Given the description of an element on the screen output the (x, y) to click on. 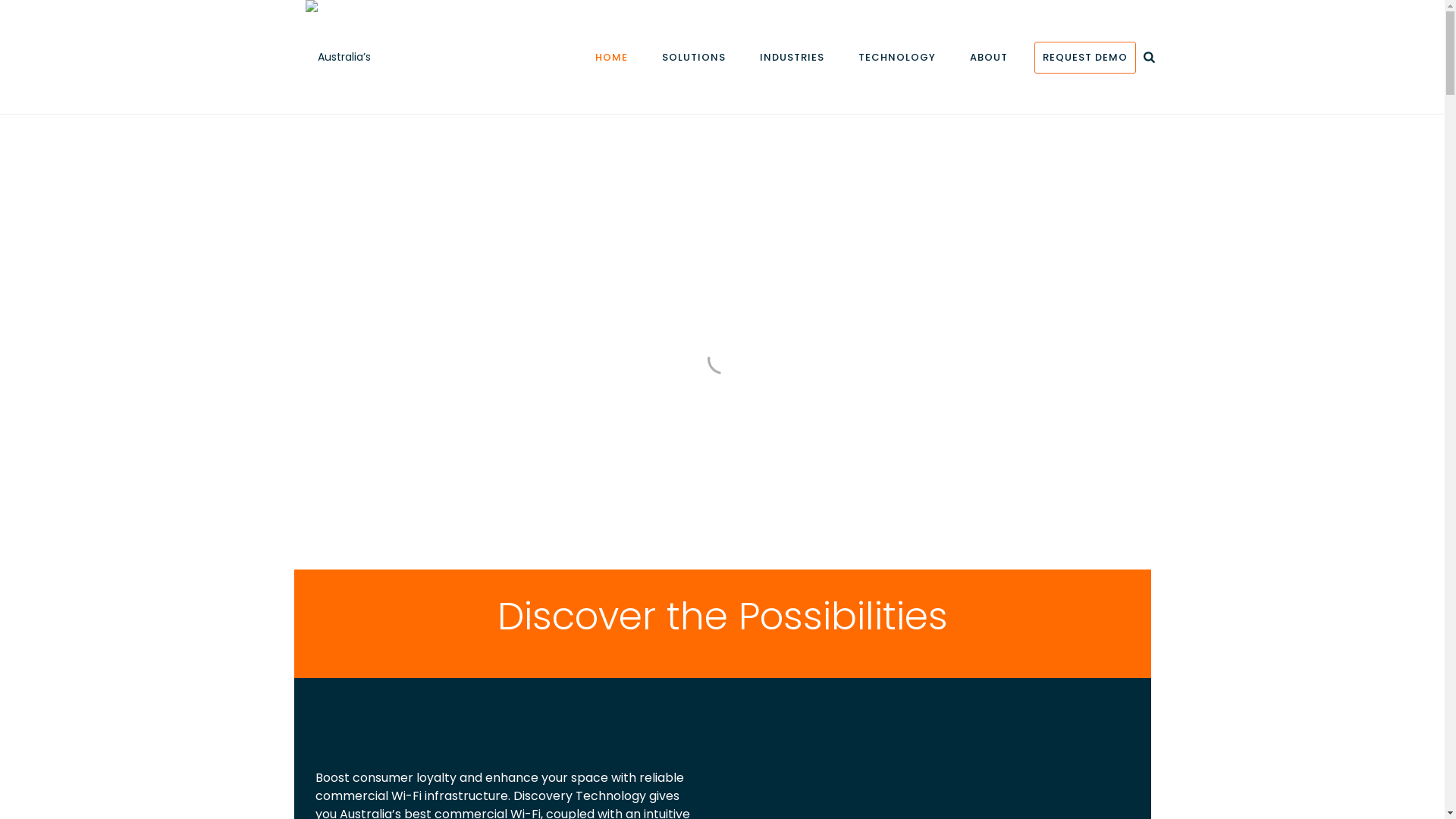
REQUEST DEMO Element type: text (1084, 57)
INDUSTRIES Element type: text (791, 57)
TECHNOLOGY Element type: text (896, 57)
HOME Element type: text (610, 57)
ABOUT Element type: text (987, 57)
SOLUTIONS Element type: text (692, 57)
